Given the description of an element on the screen output the (x, y) to click on. 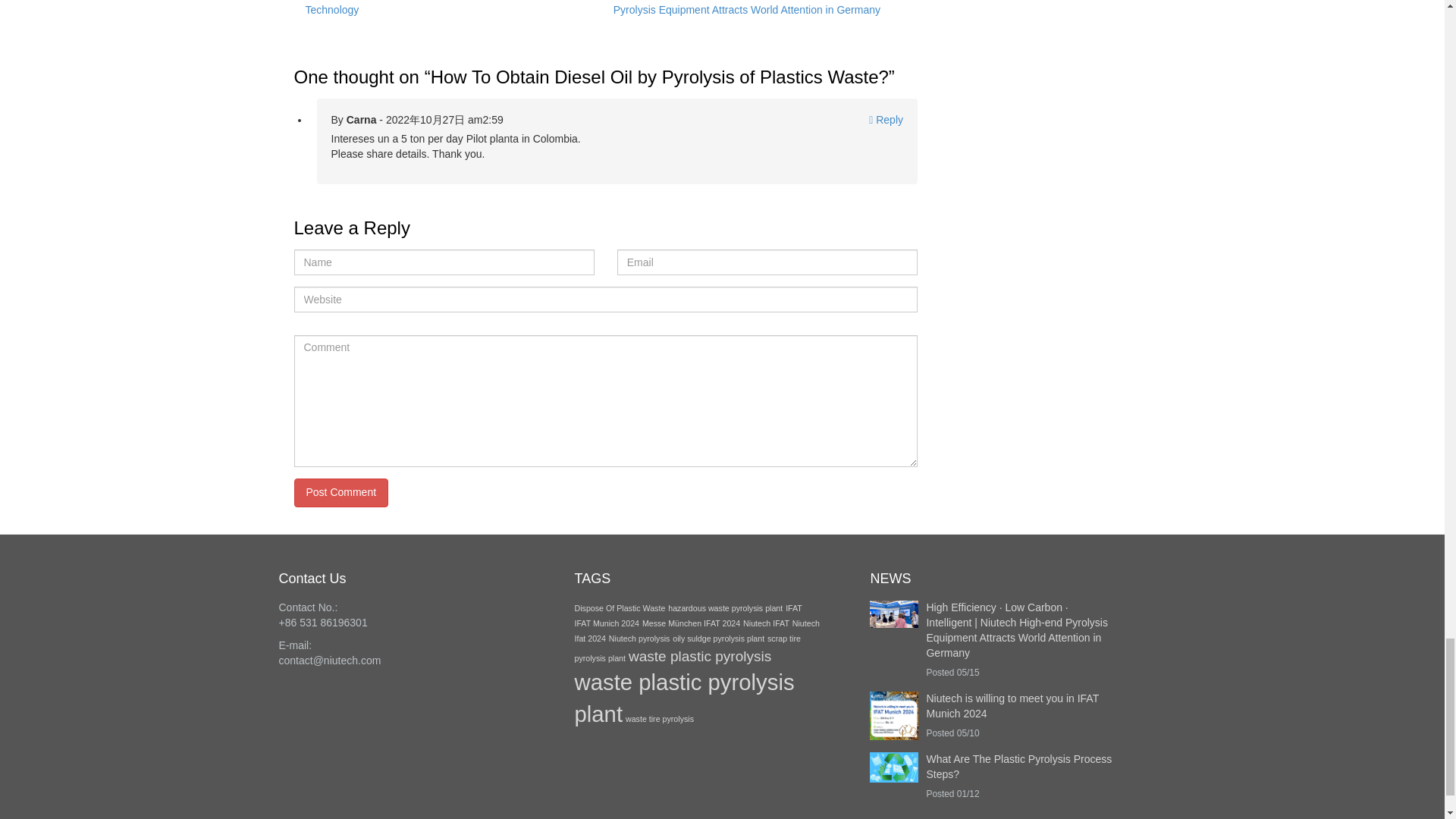
Post Comment (341, 492)
